Given the description of an element on the screen output the (x, y) to click on. 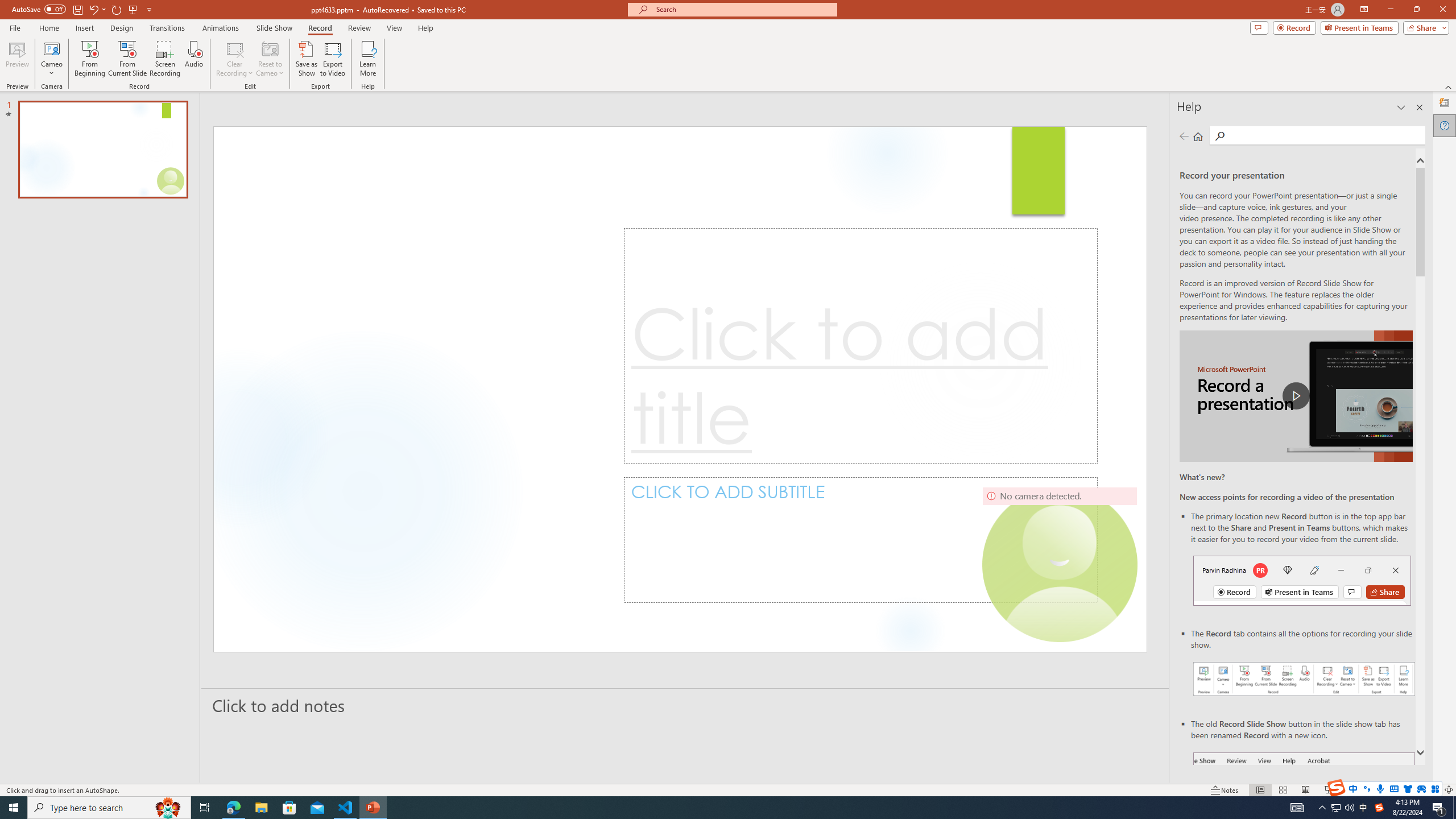
Clear Recording (234, 58)
From Current Slide... (127, 58)
Export to Video (332, 58)
Reset to Cameo (269, 58)
